Given the description of an element on the screen output the (x, y) to click on. 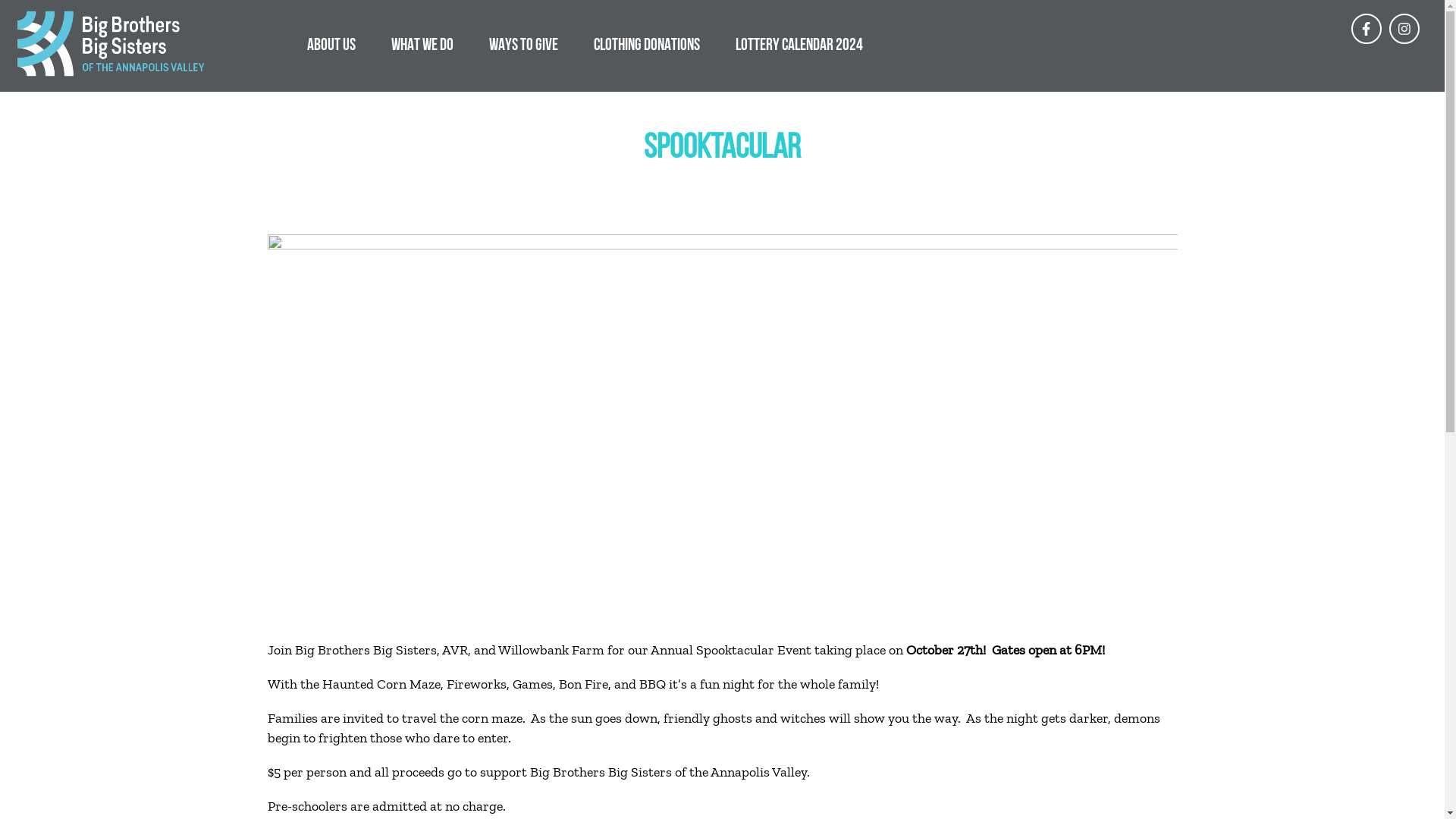
LOTTERY CALENDAR 2024 Element type: text (799, 44)
ABOUT US Element type: text (330, 44)
WHAT WE DO Element type: text (422, 44)
CLOTHING DONATIONS Element type: text (646, 44)
WAYS TO GIVE Element type: text (523, 44)
